Given the description of an element on the screen output the (x, y) to click on. 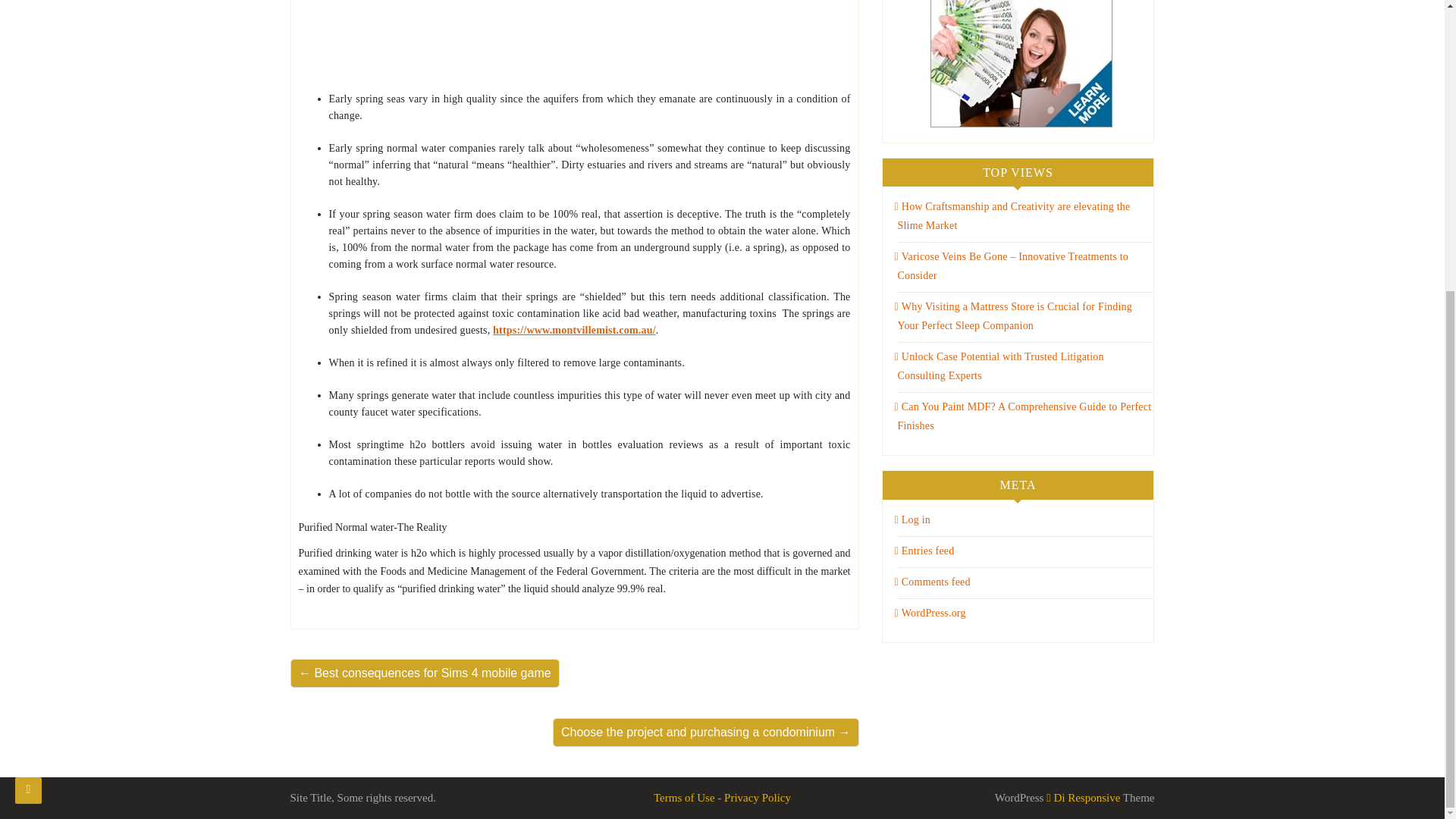
Di Responsive (1082, 797)
Can You Paint MDF? A Comprehensive Guide to Perfect Finishes (1023, 416)
Entries feed (925, 550)
WordPress.org (930, 613)
Comments feed (933, 582)
Log in (912, 519)
Terms of Use - Privacy Policy (721, 797)
